Given the description of an element on the screen output the (x, y) to click on. 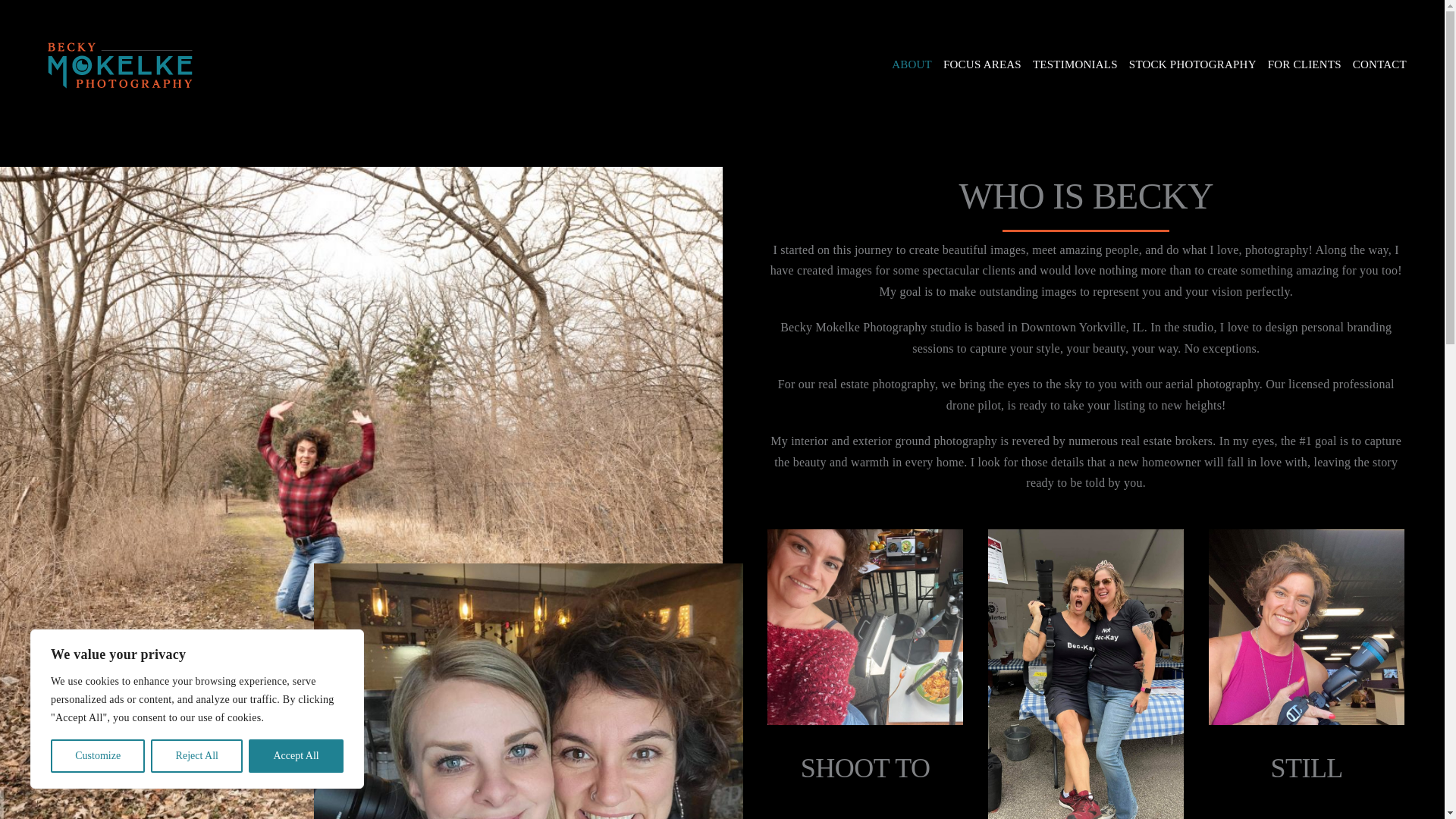
Becky at shoot (1305, 626)
Becky and Sarah (528, 691)
Customize (97, 756)
STOCK PHOTOGRAPHY (1192, 64)
Reject All (197, 756)
Becky getting ready for a shot (864, 626)
Accept All (295, 756)
